Given the description of an element on the screen output the (x, y) to click on. 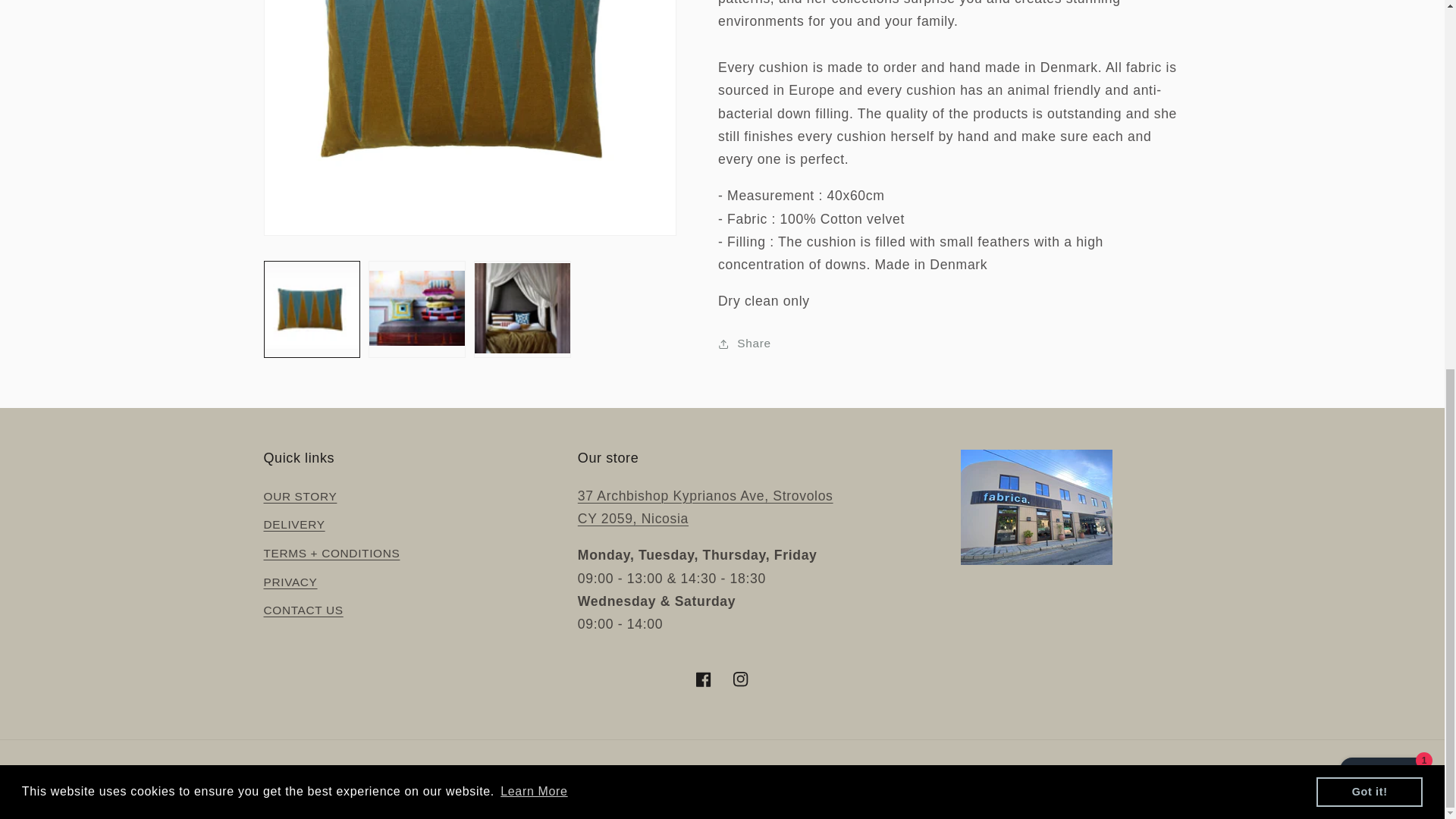
Learn More (533, 123)
Got it! (1369, 123)
Shopify online store chat (1383, 113)
